Given the description of an element on the screen output the (x, y) to click on. 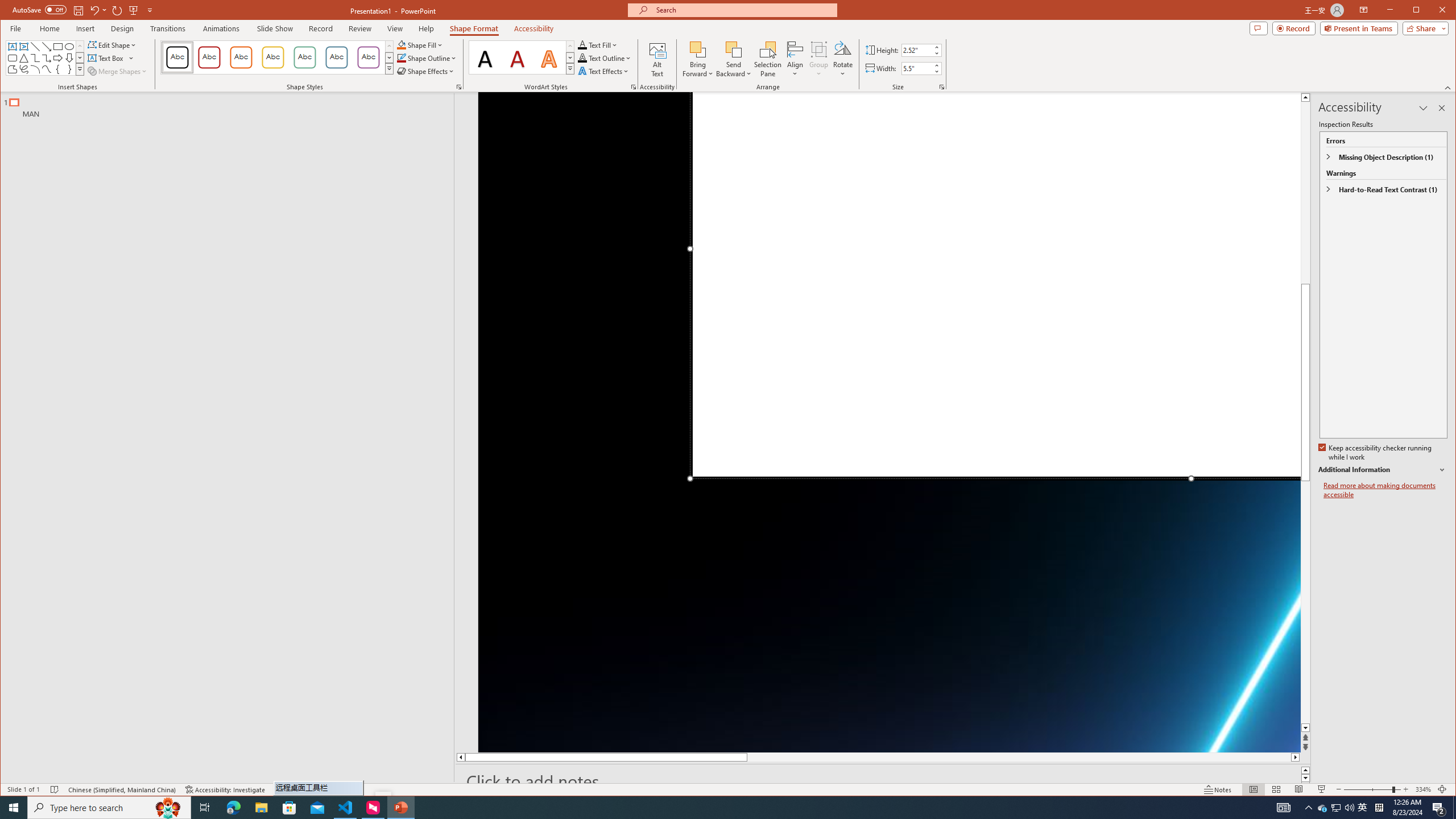
Rotate (842, 59)
Colored Outline - Orange, Accent 2 (241, 57)
Colored Outline - Blue-Gray, Accent 5 (336, 57)
Group (818, 59)
Zoom 334% (1422, 789)
Additional Information (1382, 469)
Subtitle TextBox (1003, 749)
